Given the description of an element on the screen output the (x, y) to click on. 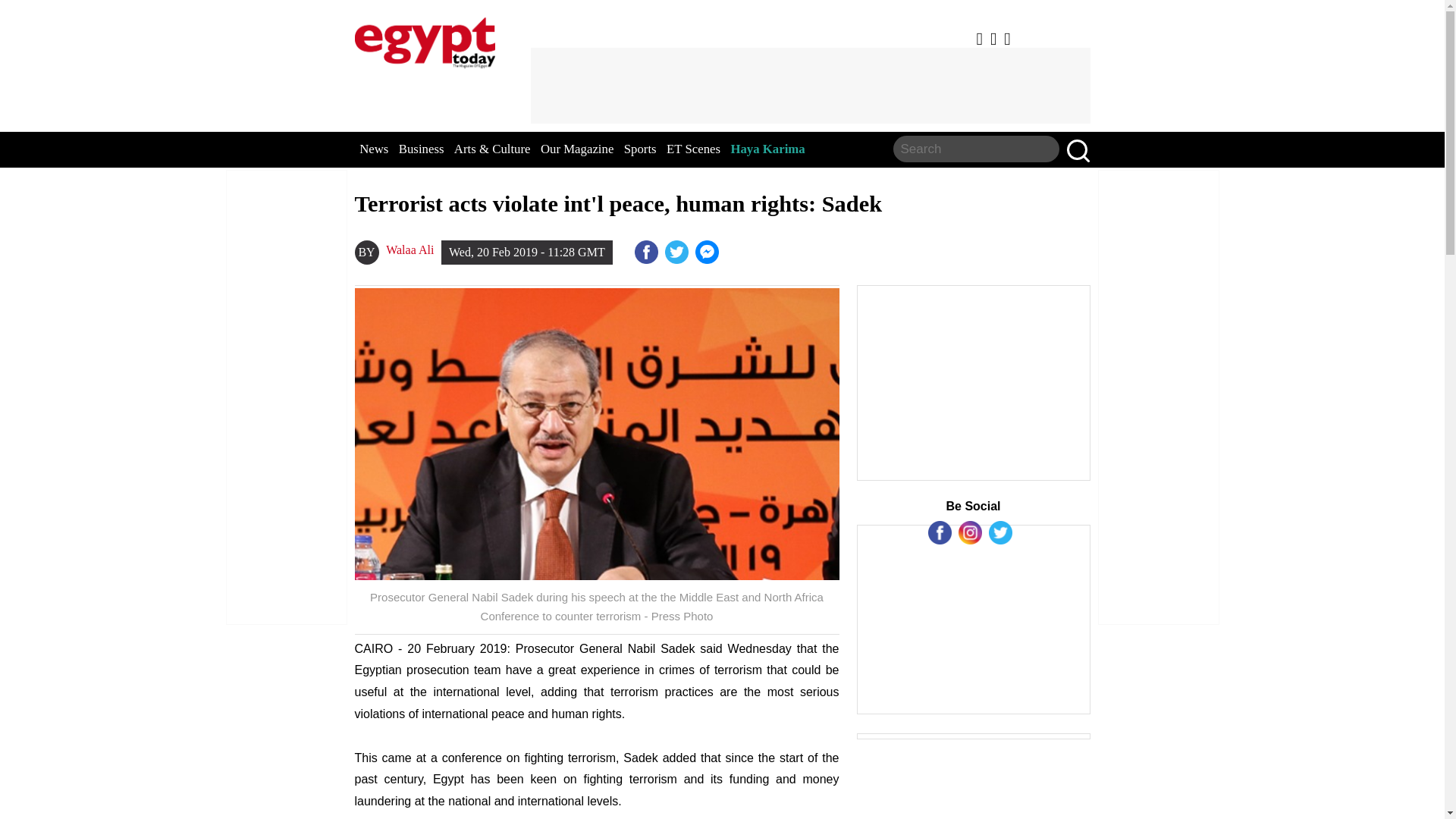
Walaa Ali (409, 250)
Sisi heads to Guinea first destination in overseas tour (708, 251)
EgyptToday (425, 39)
ET Scenes (693, 149)
Our Magazine (576, 149)
Haya Karima (767, 149)
Business (421, 149)
Sports (640, 149)
